Given the description of an element on the screen output the (x, y) to click on. 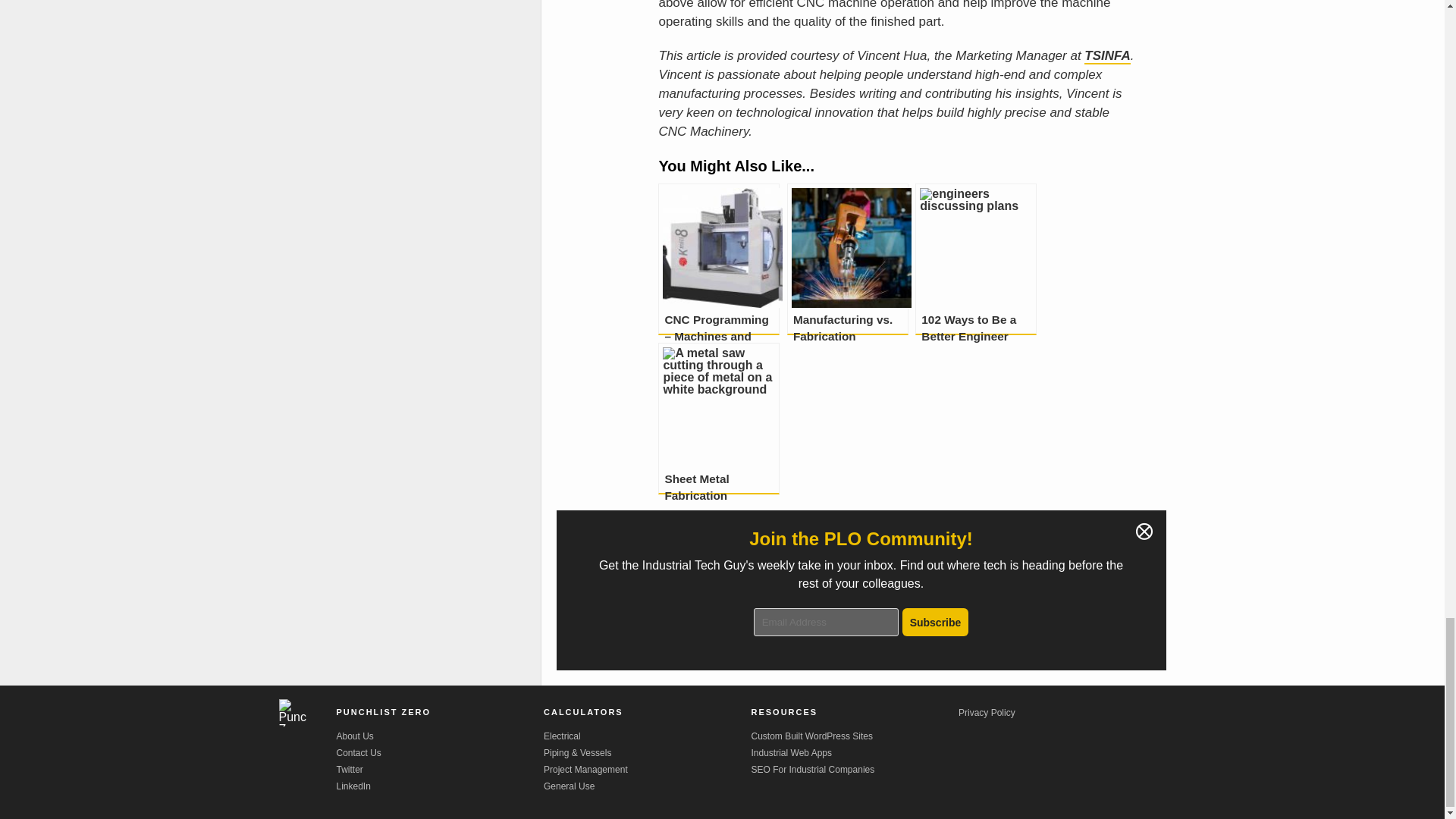
Contact Us (440, 752)
Electrical (647, 736)
General Use (647, 786)
Industrial Web Apps (854, 752)
LinkedIn (440, 786)
Subscribe (935, 622)
Twitter (440, 768)
Piping and Vessel Calculators (647, 752)
Project Management (647, 768)
Project Management Calculators (647, 768)
